Given the description of an element on the screen output the (x, y) to click on. 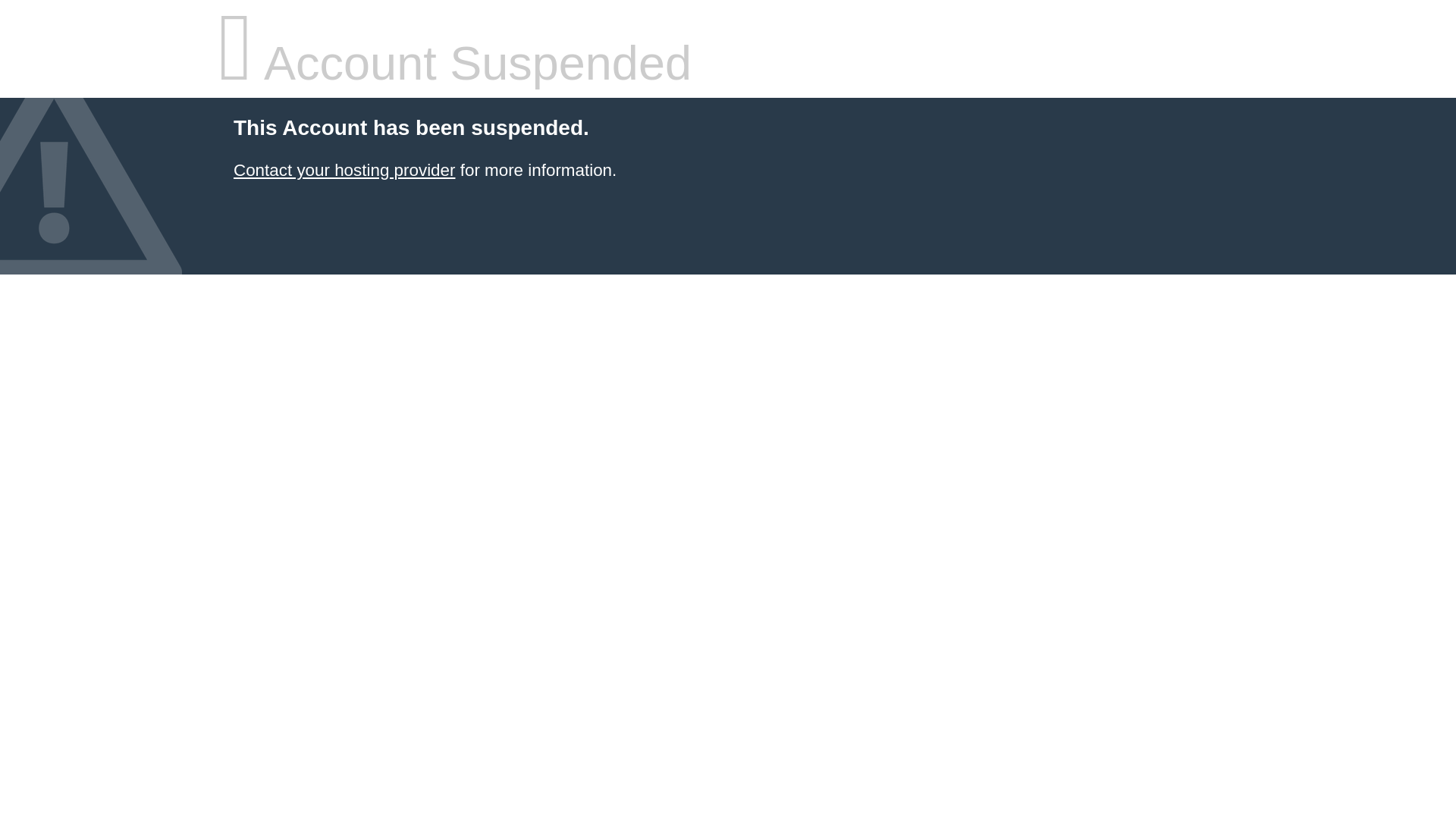
Contact your hosting provider (343, 169)
